Given the description of an element on the screen output the (x, y) to click on. 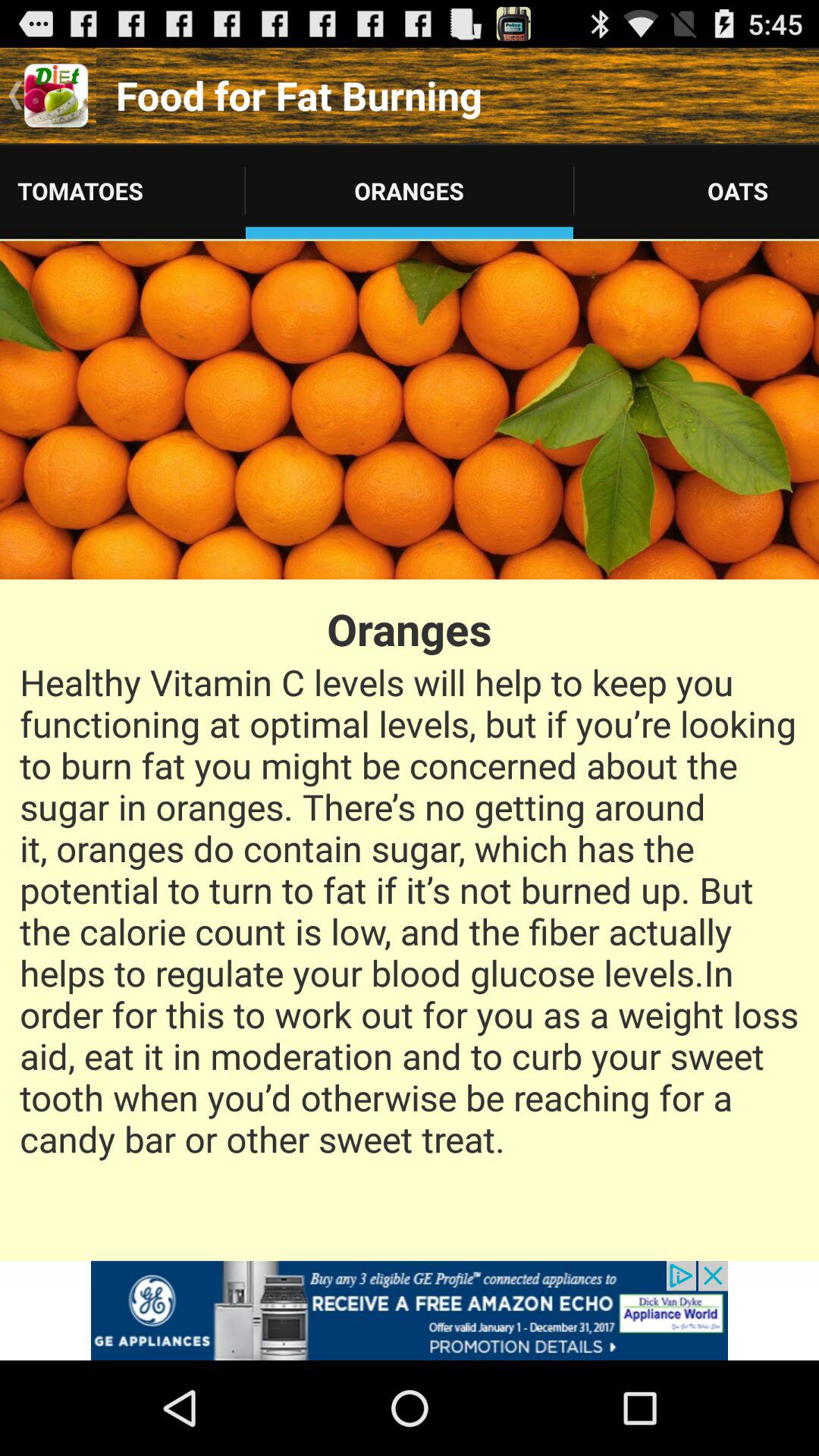
open advertisement (409, 1310)
